Given the description of an element on the screen output the (x, y) to click on. 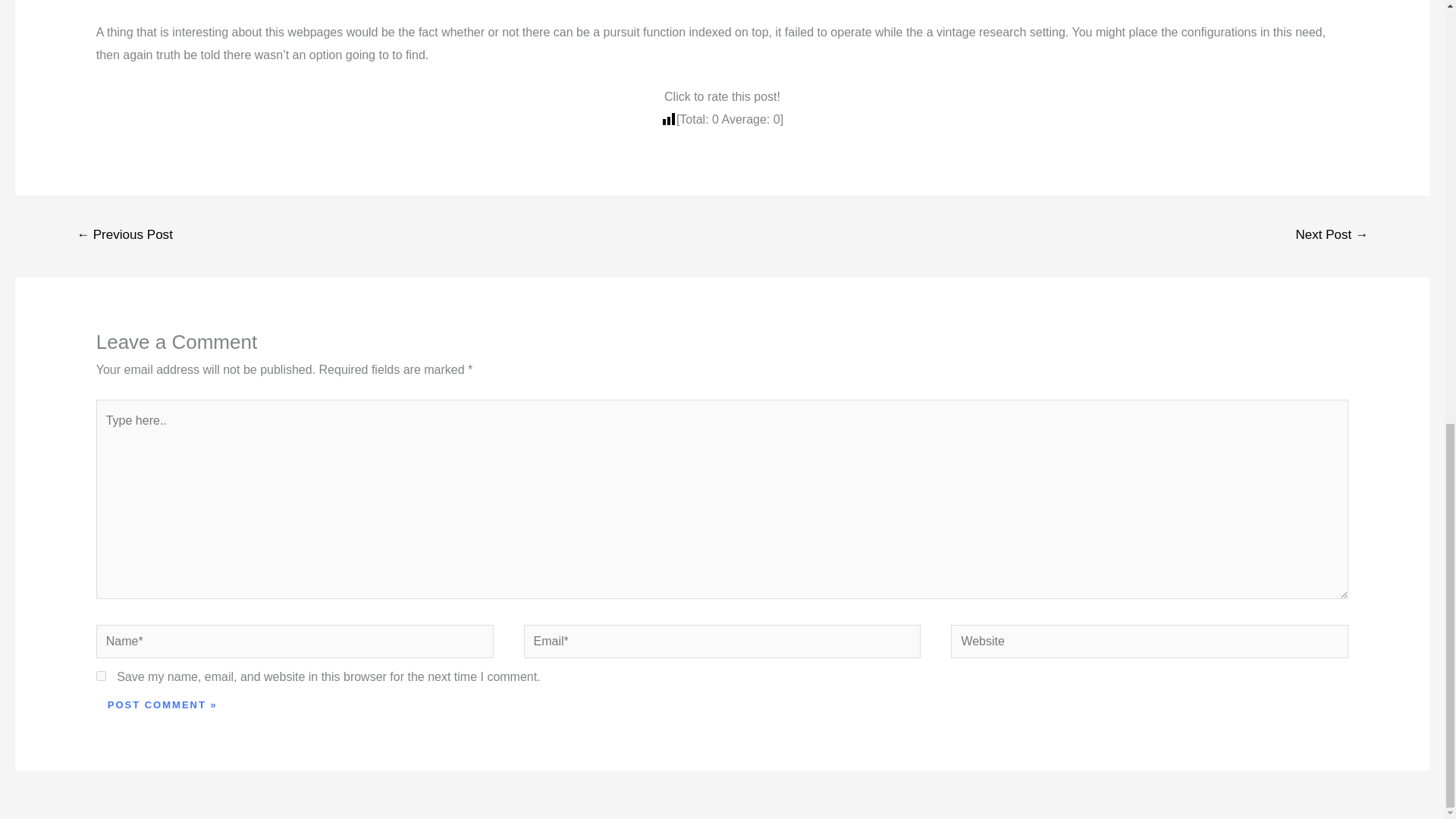
yes (101, 675)
